Given the description of an element on the screen output the (x, y) to click on. 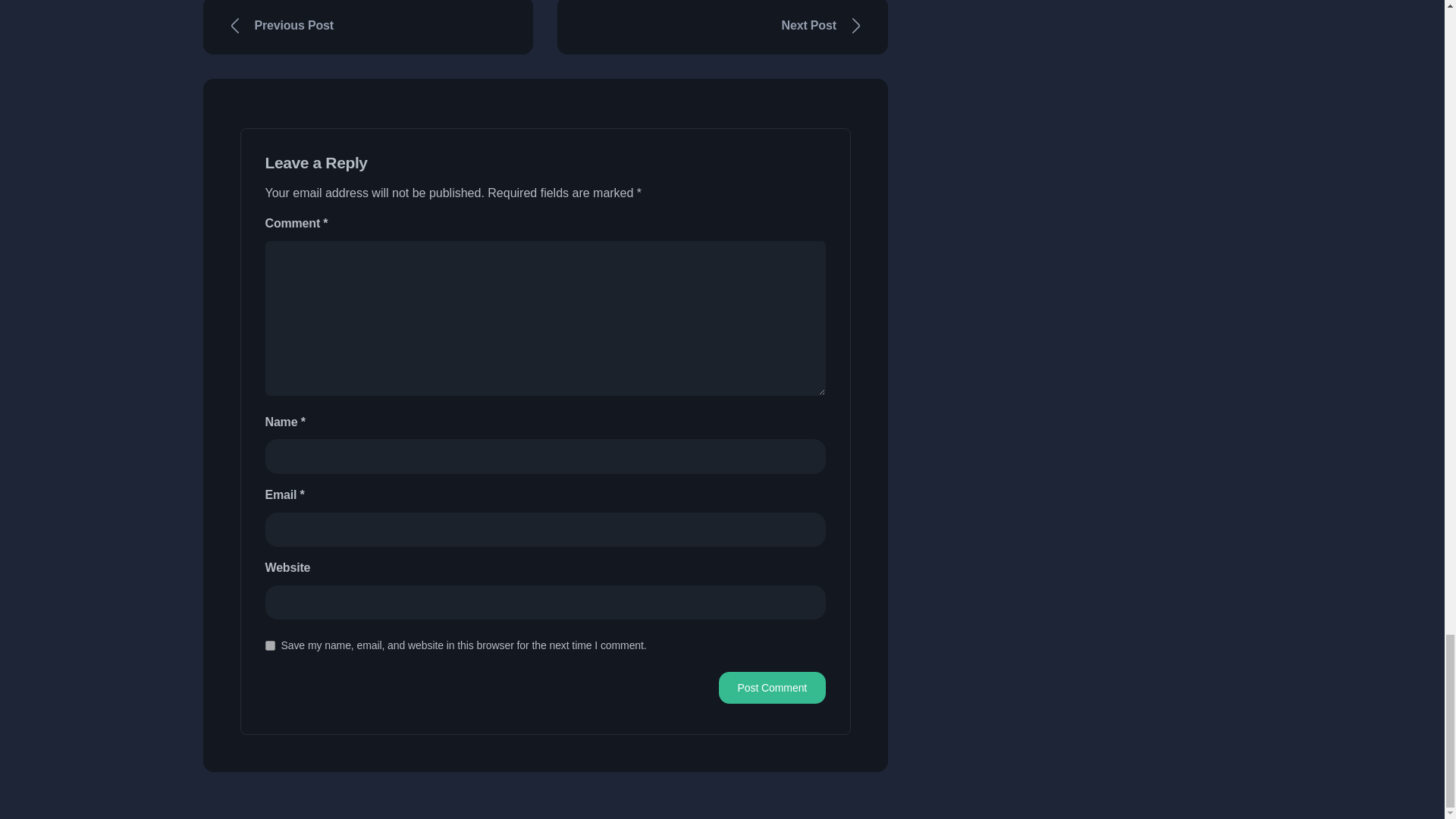
Post Comment (772, 687)
Next Post (722, 27)
Post Comment (772, 687)
Previous Post (368, 27)
yes (269, 645)
